Given the description of an element on the screen output the (x, y) to click on. 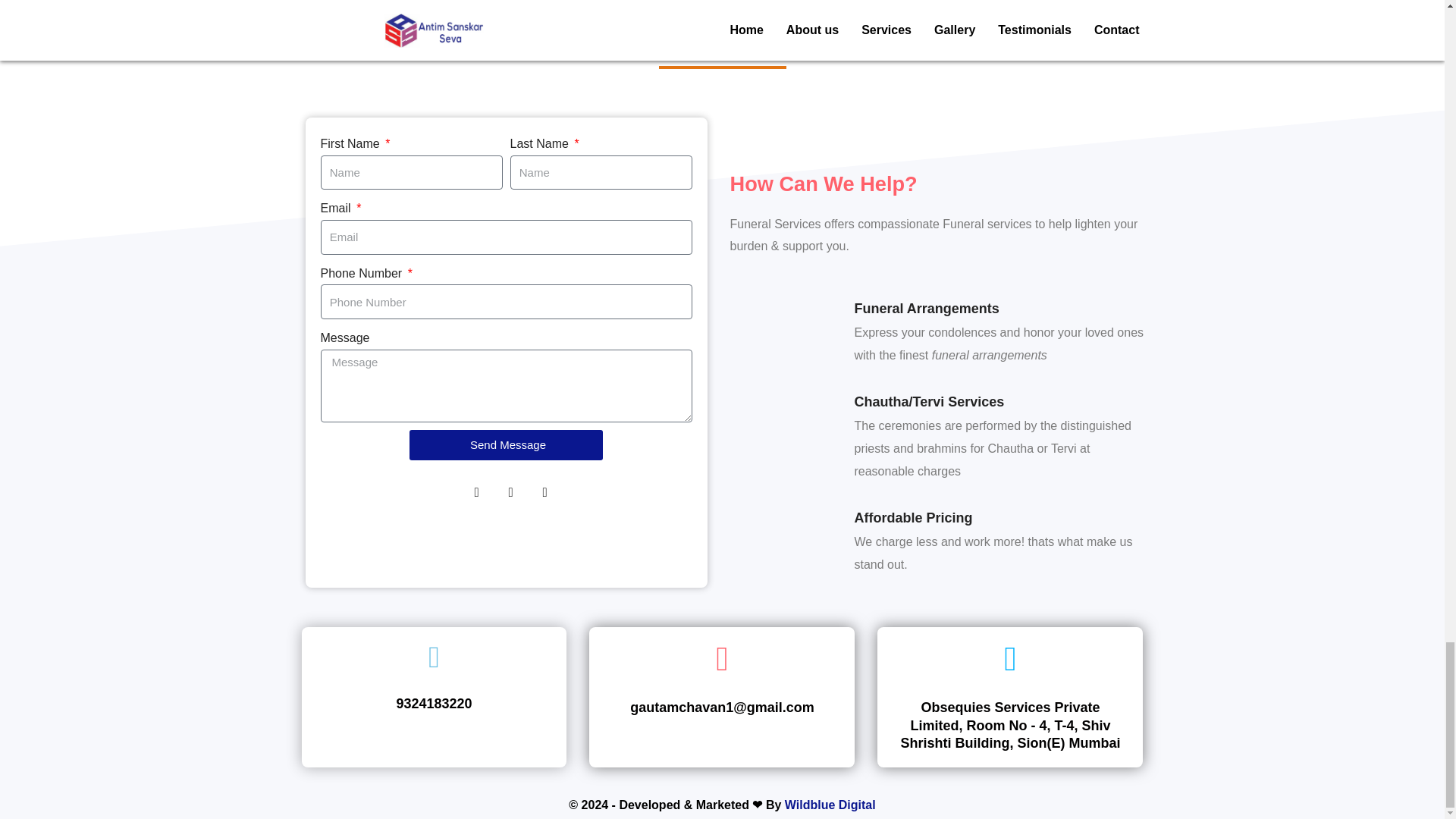
Wildblue Digital (830, 804)
Send Message (505, 444)
